Given the description of an element on the screen output the (x, y) to click on. 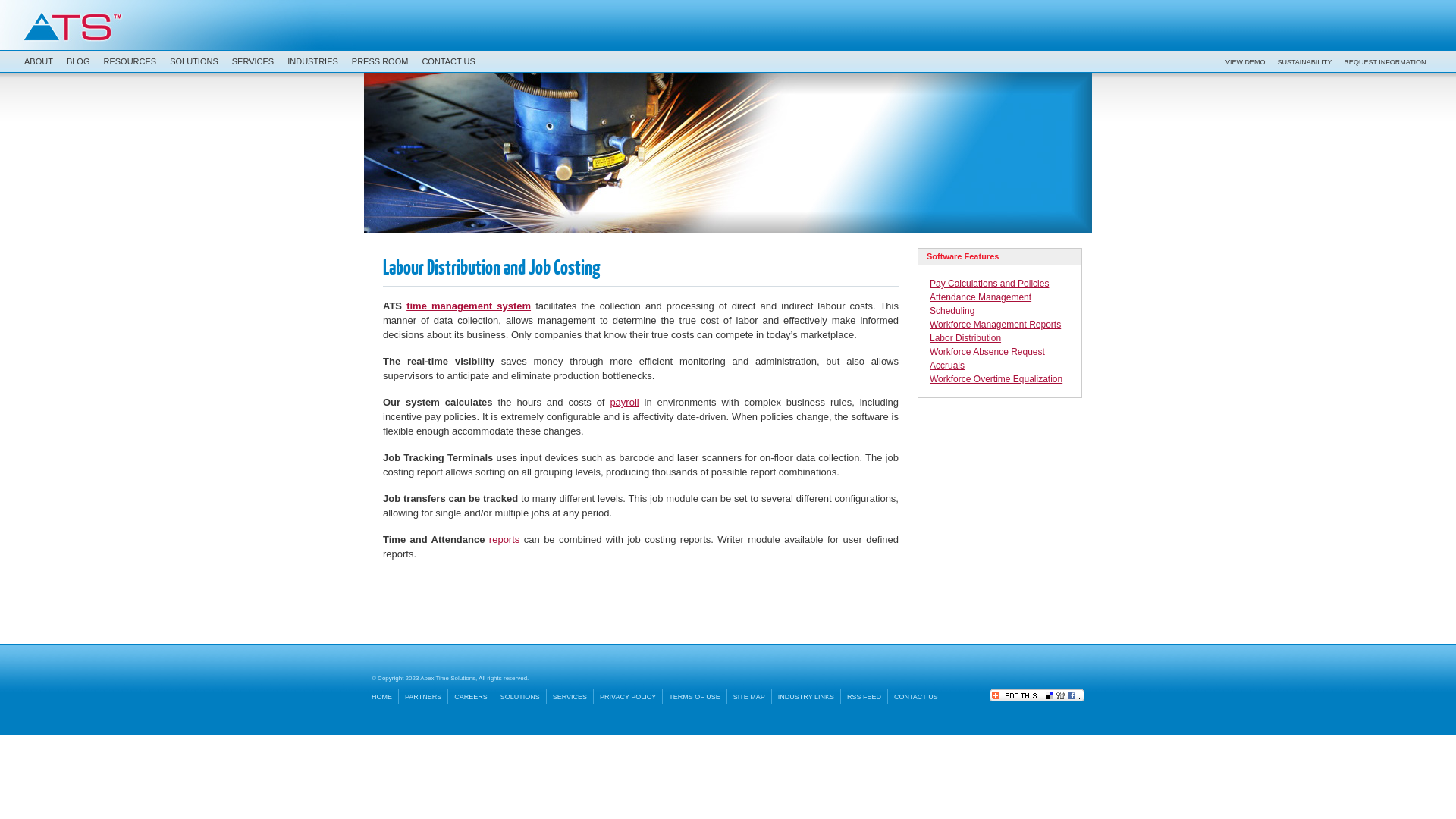
INDUSTRIES Element type: text (311, 60)
Attendance Management Element type: text (980, 296)
CONTACT US Element type: text (447, 60)
Accruals Element type: text (946, 365)
VIEW DEMO Element type: text (1245, 60)
SOLUTIONS Element type: text (193, 60)
SITE MAP Element type: text (749, 696)
Scheduling Element type: text (951, 310)
RSS FEED Element type: text (864, 696)
PRIVACY POLICY Element type: text (627, 696)
Workforce Absence Request Element type: text (986, 351)
PRESS ROOM Element type: text (379, 60)
SOLUTIONS Element type: text (520, 696)
SERVICES Element type: text (251, 60)
REQUEST INFORMATION Element type: text (1384, 60)
CONTACT US Element type: text (916, 696)
SUSTAINABILITY Element type: text (1304, 60)
RESOURCES Element type: text (128, 60)
CAREERS Element type: text (471, 696)
SERVICES Element type: text (569, 696)
payroll Element type: text (623, 401)
time management system Element type: text (468, 305)
BLOG Element type: text (77, 60)
HOME Element type: text (384, 696)
Labor Distribution Element type: text (965, 337)
PARTNERS Element type: text (423, 696)
Workforce Overtime Equalization Element type: text (995, 378)
reports Element type: text (504, 539)
Workforce Management Reports Element type: text (994, 324)
INDUSTRY LINKS Element type: text (805, 696)
TERMS OF USE Element type: text (694, 696)
Pay Calculations and Policies Element type: text (988, 283)
ABOUT Element type: text (37, 60)
